Given the description of an element on the screen output the (x, y) to click on. 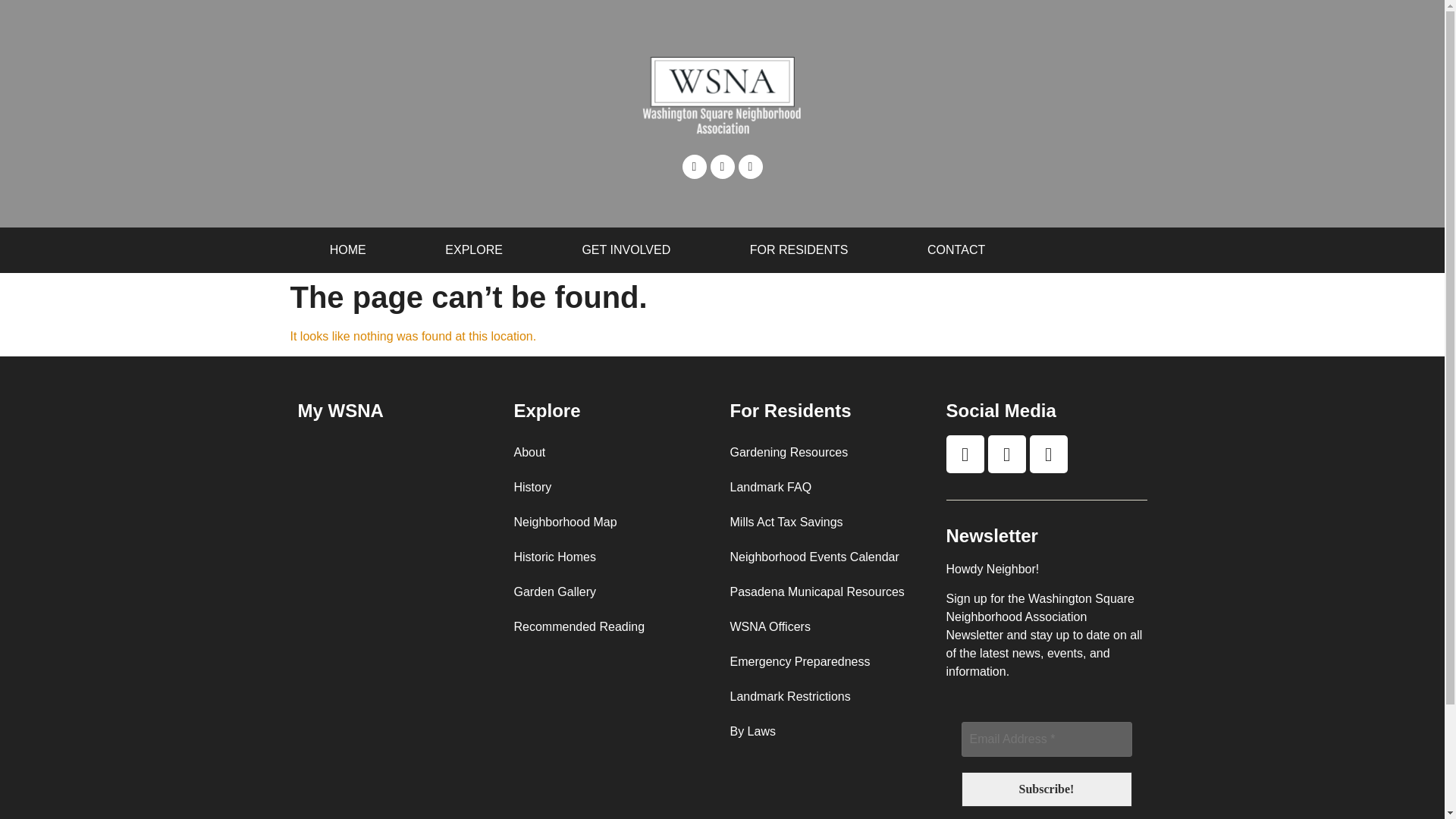
Subscribe! (1046, 789)
HOME (347, 249)
CONTACT (956, 249)
EXPLORE (473, 249)
Email Address (1046, 738)
GET INVOLVED (625, 249)
FOR RESIDENTS (798, 249)
